Given the description of an element on the screen output the (x, y) to click on. 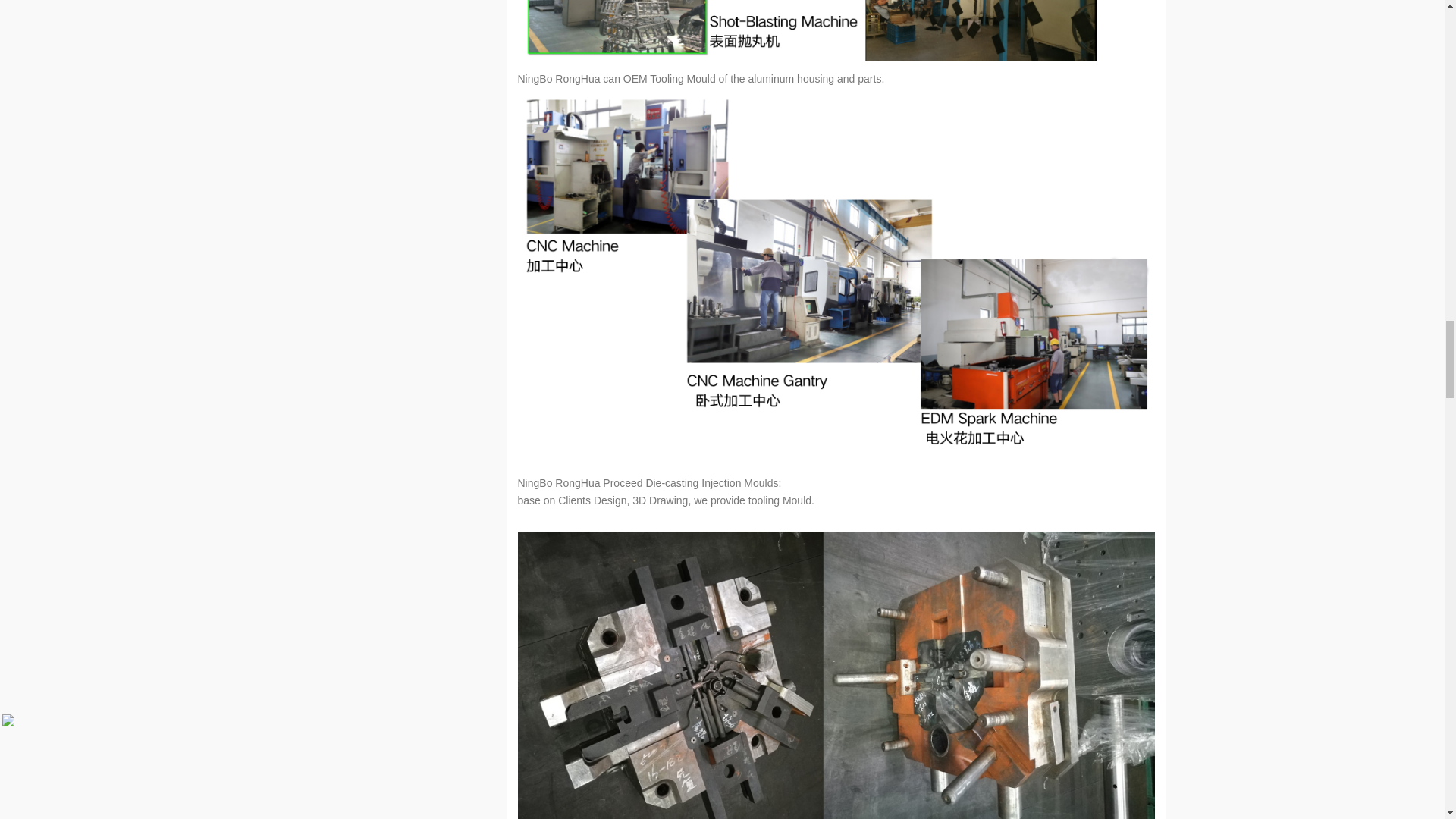
1606552138125748.jpg (835, 30)
